Given the description of an element on the screen output the (x, y) to click on. 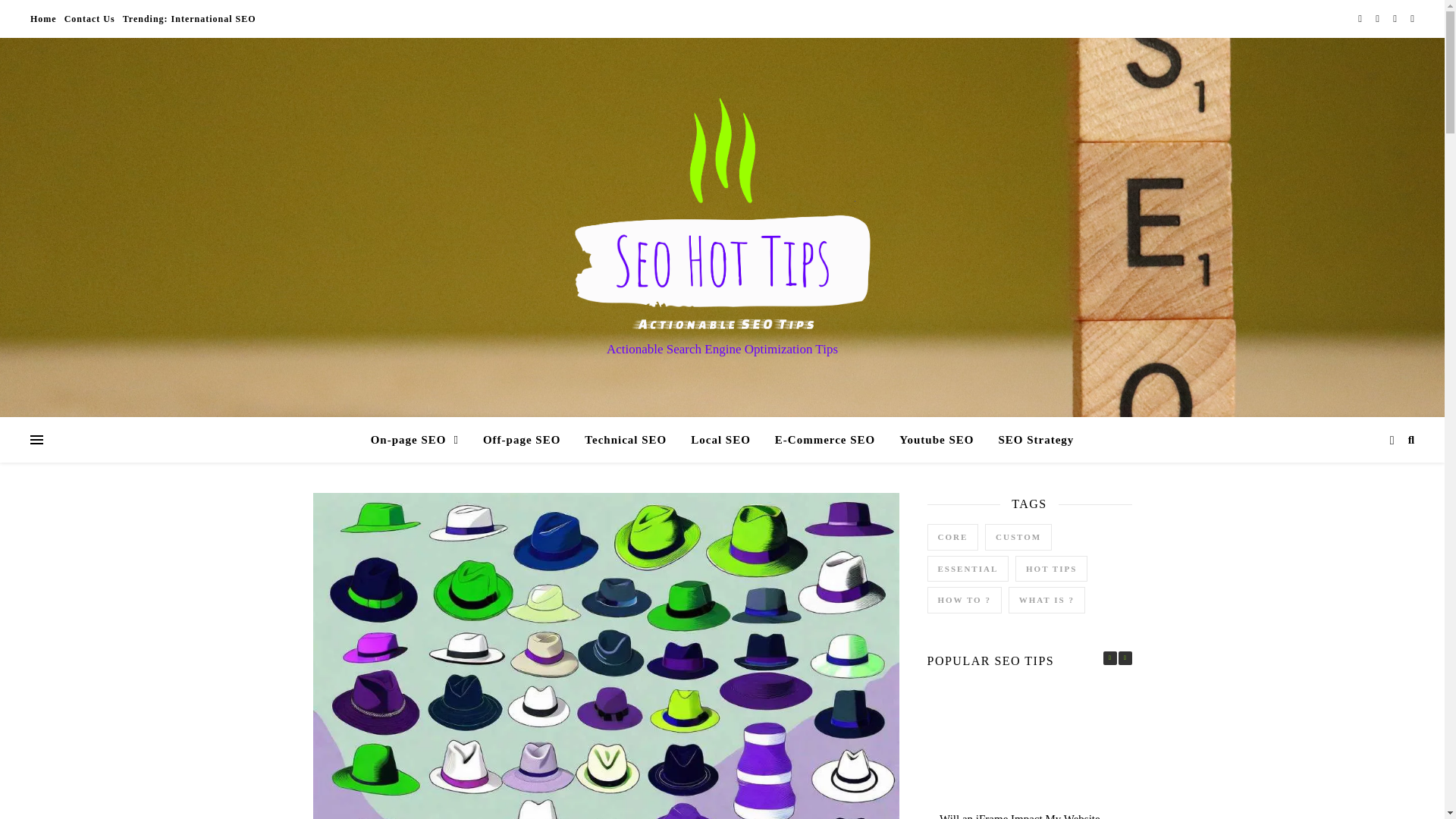
SEO Strategy (1029, 439)
Off-page SEO (521, 439)
Trending: International SEO (187, 18)
E-Commerce SEO (824, 439)
Youtube SEO (935, 439)
On-page SEO (420, 439)
Contact Us (90, 18)
Local SEO (720, 439)
SEO Hot Tips (722, 213)
Technical SEO (625, 439)
